Given the description of an element on the screen output the (x, y) to click on. 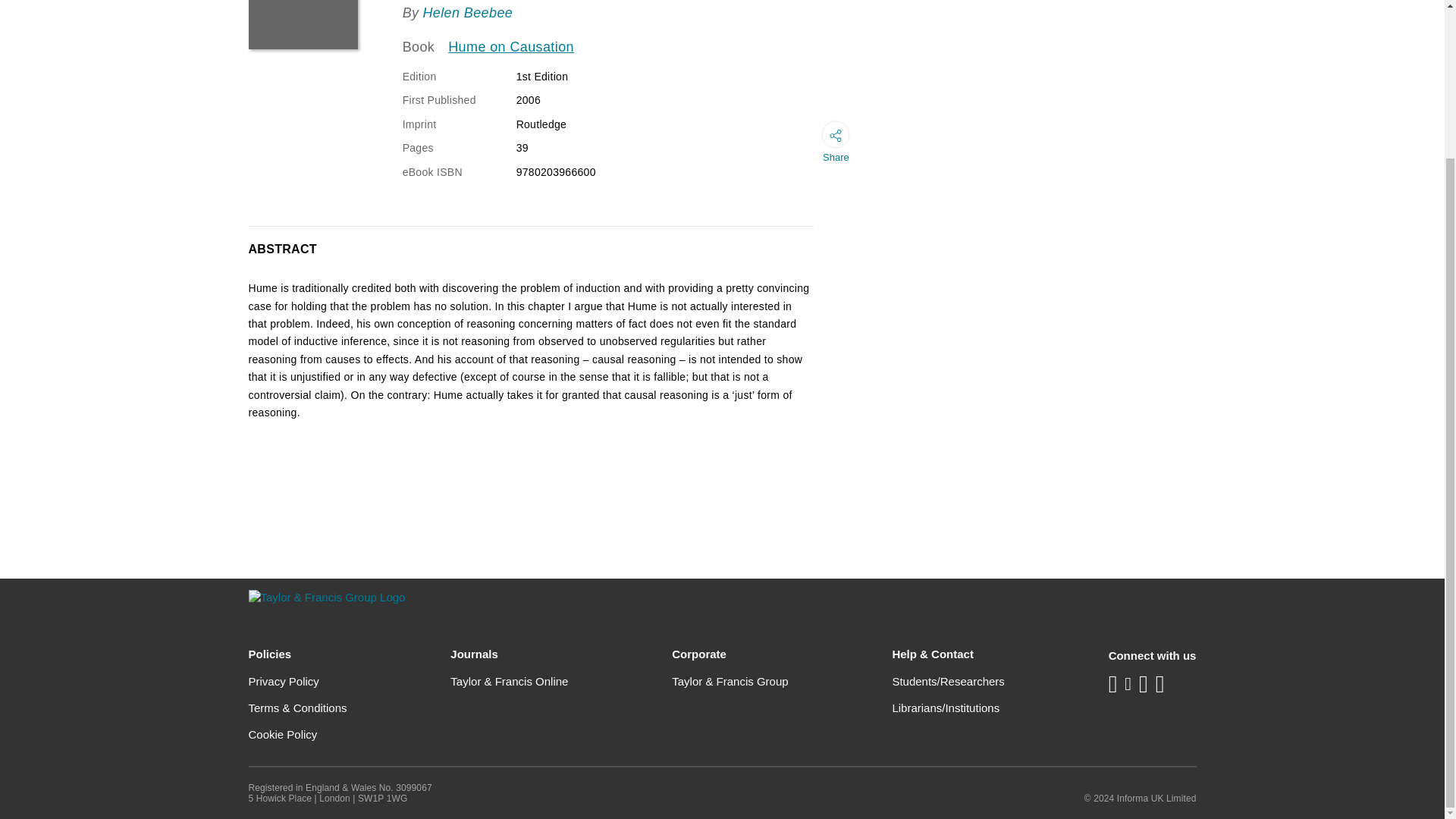
Helen Beebee (467, 12)
Privacy Policy (283, 681)
Hume on Causation (510, 47)
Cookie Policy (282, 734)
